Given the description of an element on the screen output the (x, y) to click on. 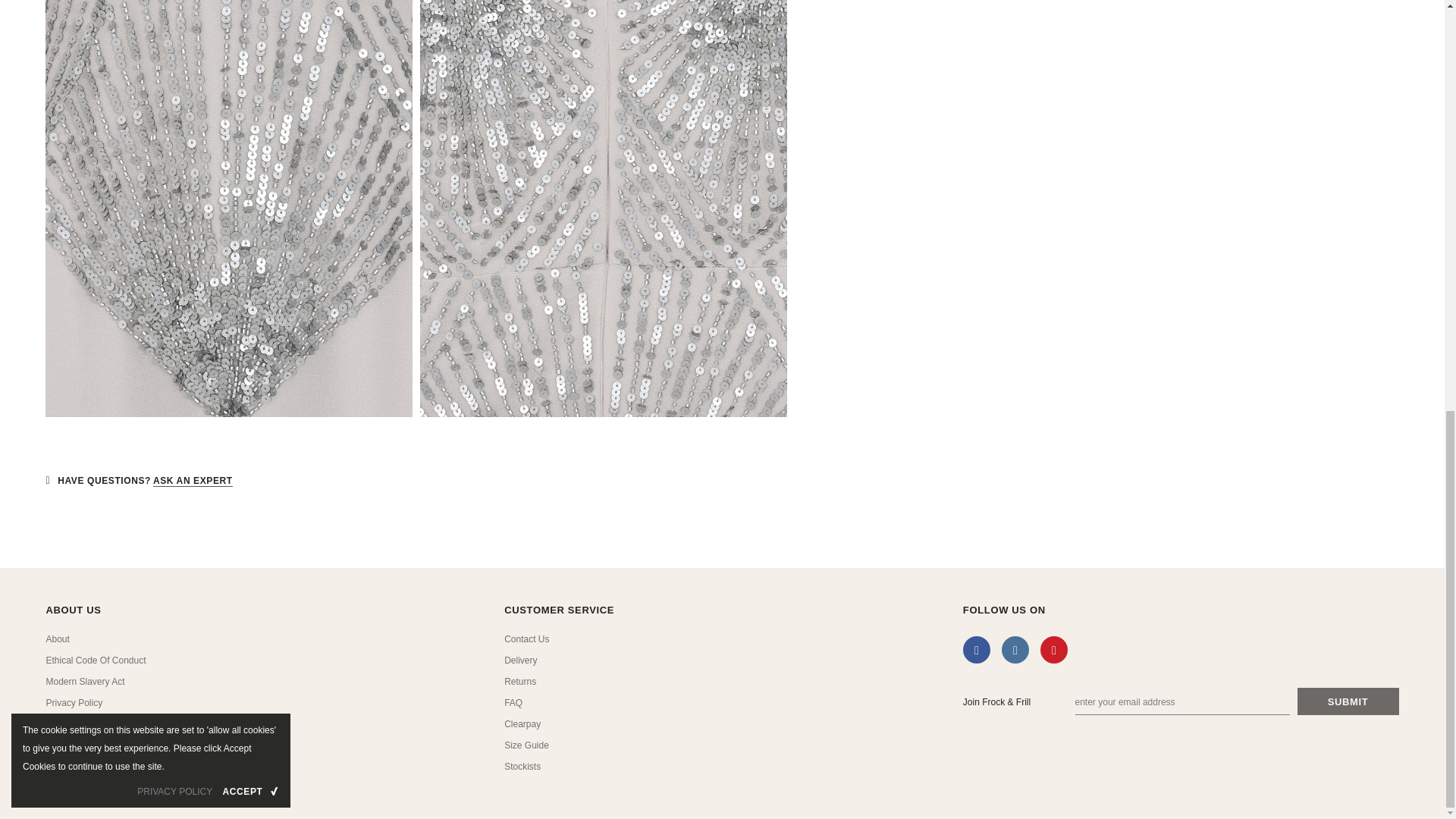
Submit (1348, 700)
